Given the description of an element on the screen output the (x, y) to click on. 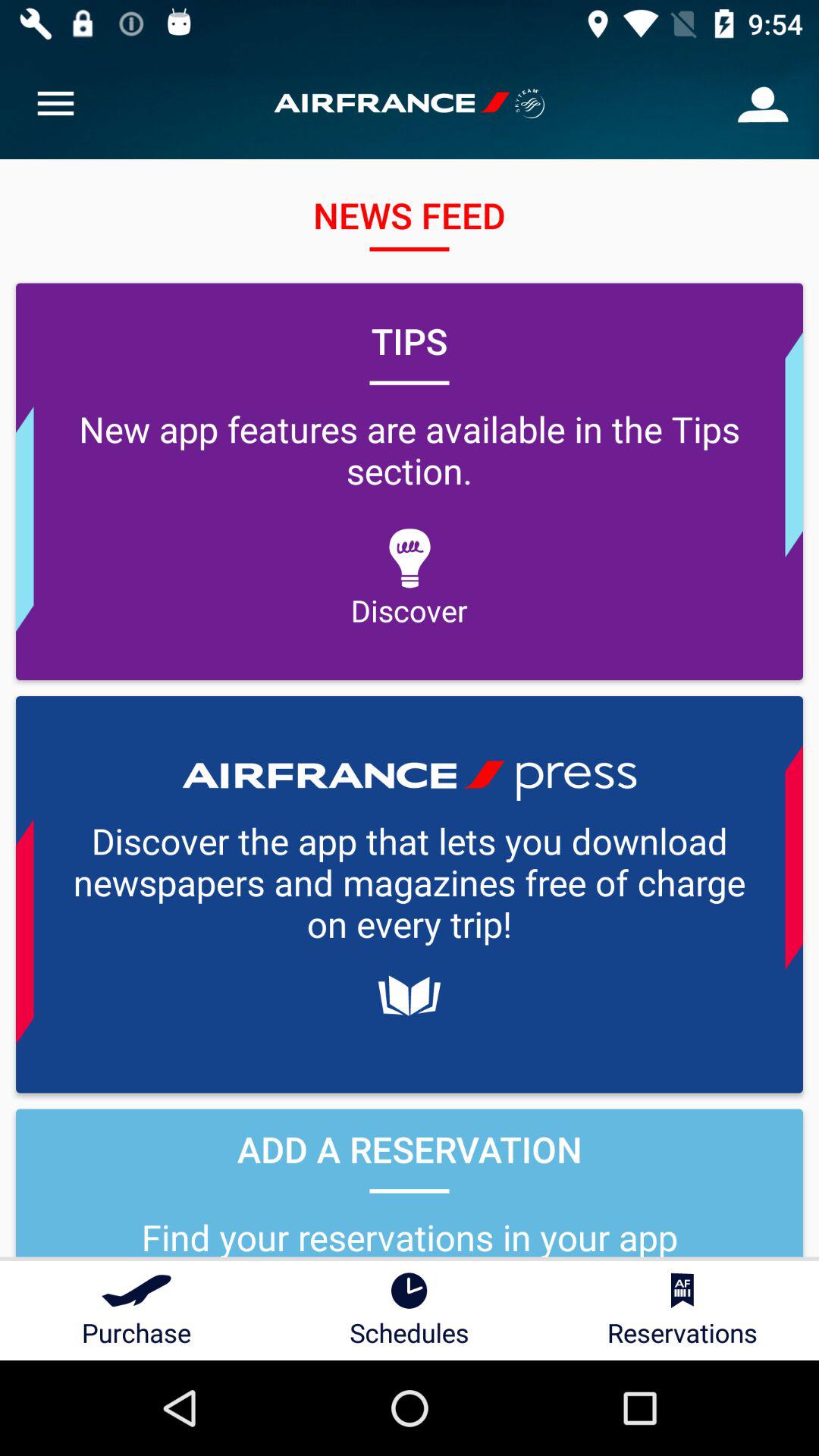
tap the item to the left of the reservations icon (409, 1310)
